Given the description of an element on the screen output the (x, y) to click on. 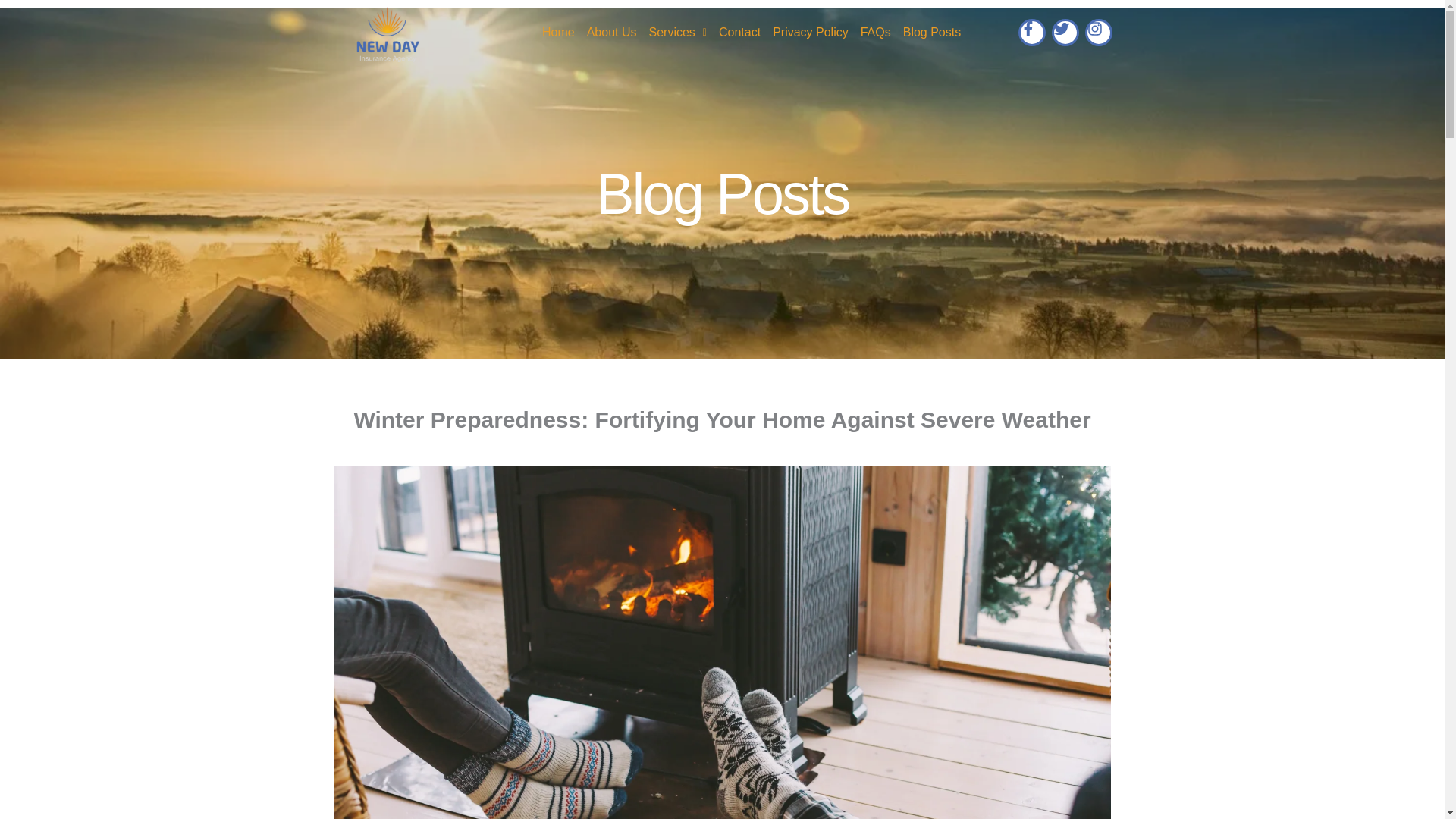
Facebook-f (1031, 31)
Twitter (1064, 31)
Services (678, 32)
About Us (611, 32)
Privacy Policy (810, 32)
Blog Posts (931, 32)
FAQs (875, 32)
Contact (740, 32)
Instagram (1098, 31)
Home (557, 32)
